Given the description of an element on the screen output the (x, y) to click on. 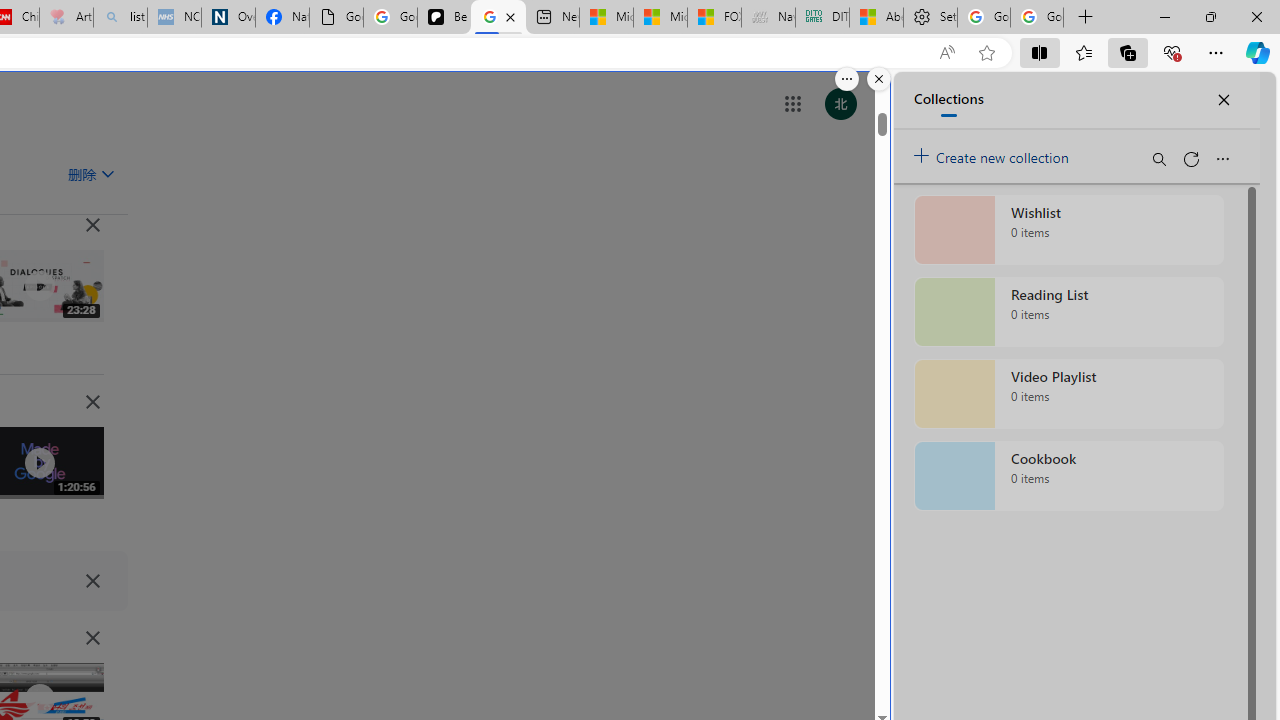
Be Smart | creating Science videos | Patreon (444, 17)
FOX News - MSN (714, 17)
Class: asE2Ub NMm5M (107, 173)
Class: DI7Mnf NMm5M (91, 580)
